Given the description of an element on the screen output the (x, y) to click on. 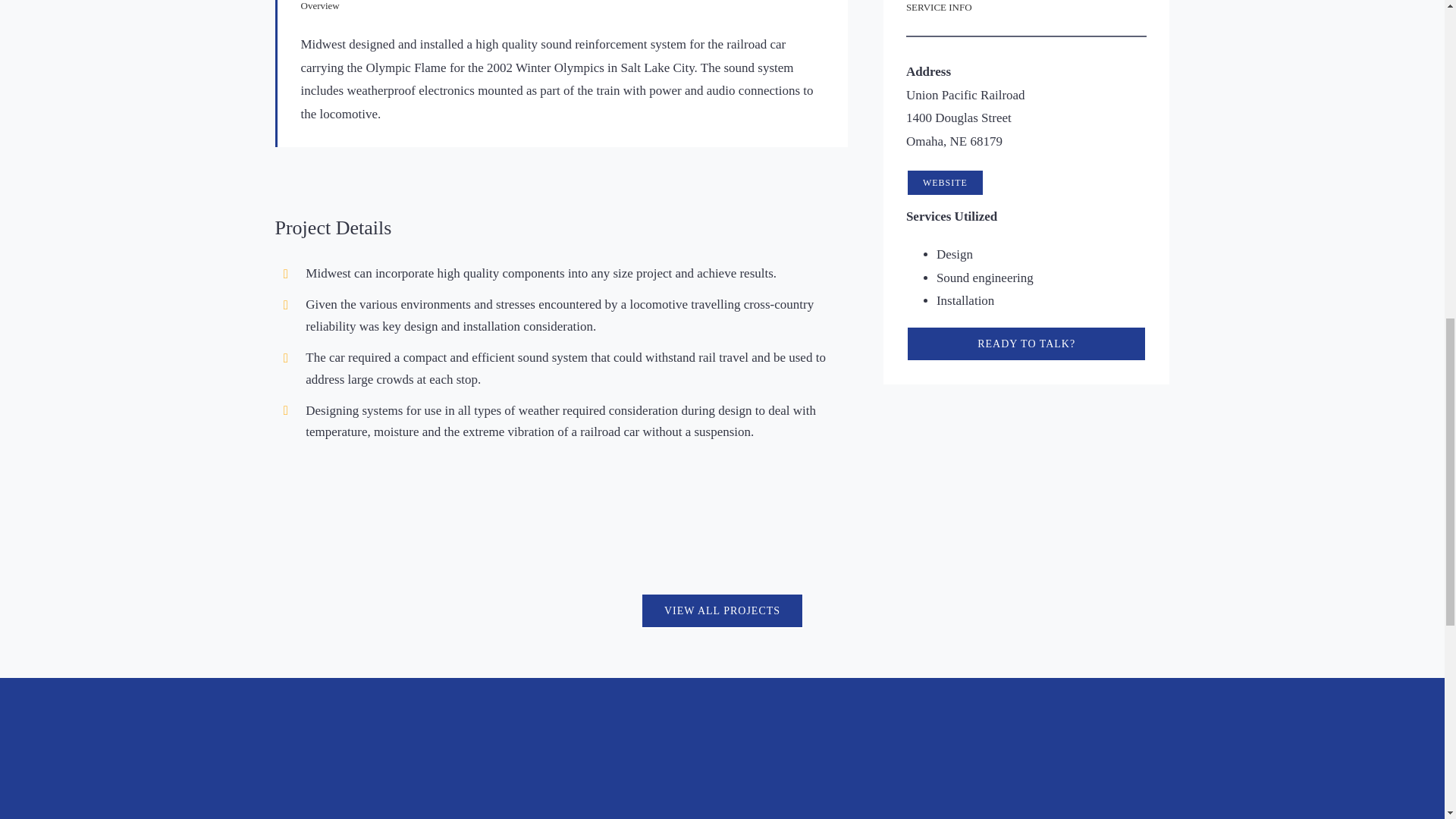
WEBSITE (944, 182)
READY TO TALK? (1026, 343)
VIEW ALL PROJECTS (721, 610)
